Given the description of an element on the screen output the (x, y) to click on. 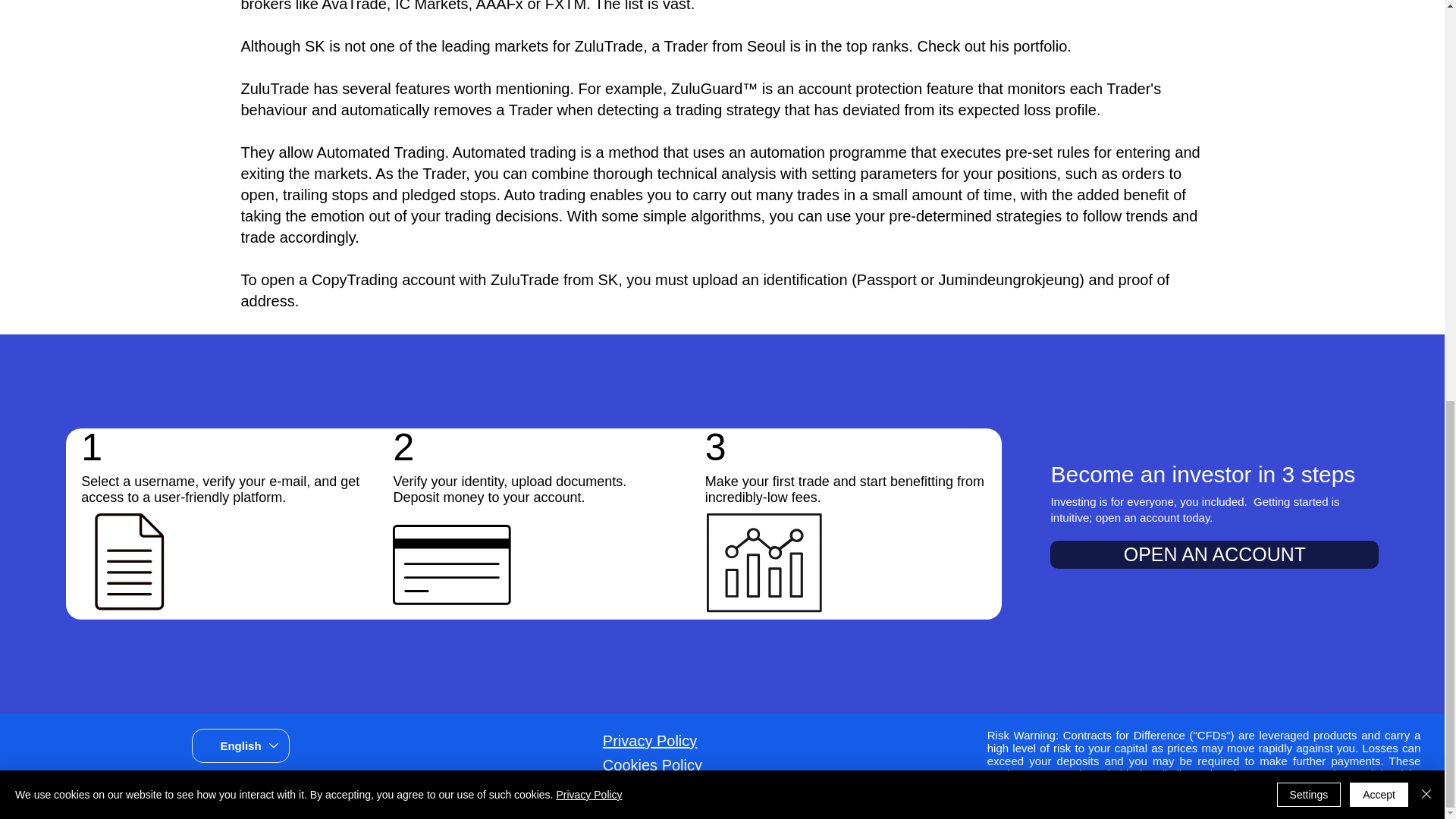
Accept (1378, 10)
OPEN AN ACCOUNT (1213, 554)
Settings (1308, 10)
Privacy Policy (649, 740)
Privacy Policy (588, 8)
Cookies Policy (651, 764)
